Given the description of an element on the screen output the (x, y) to click on. 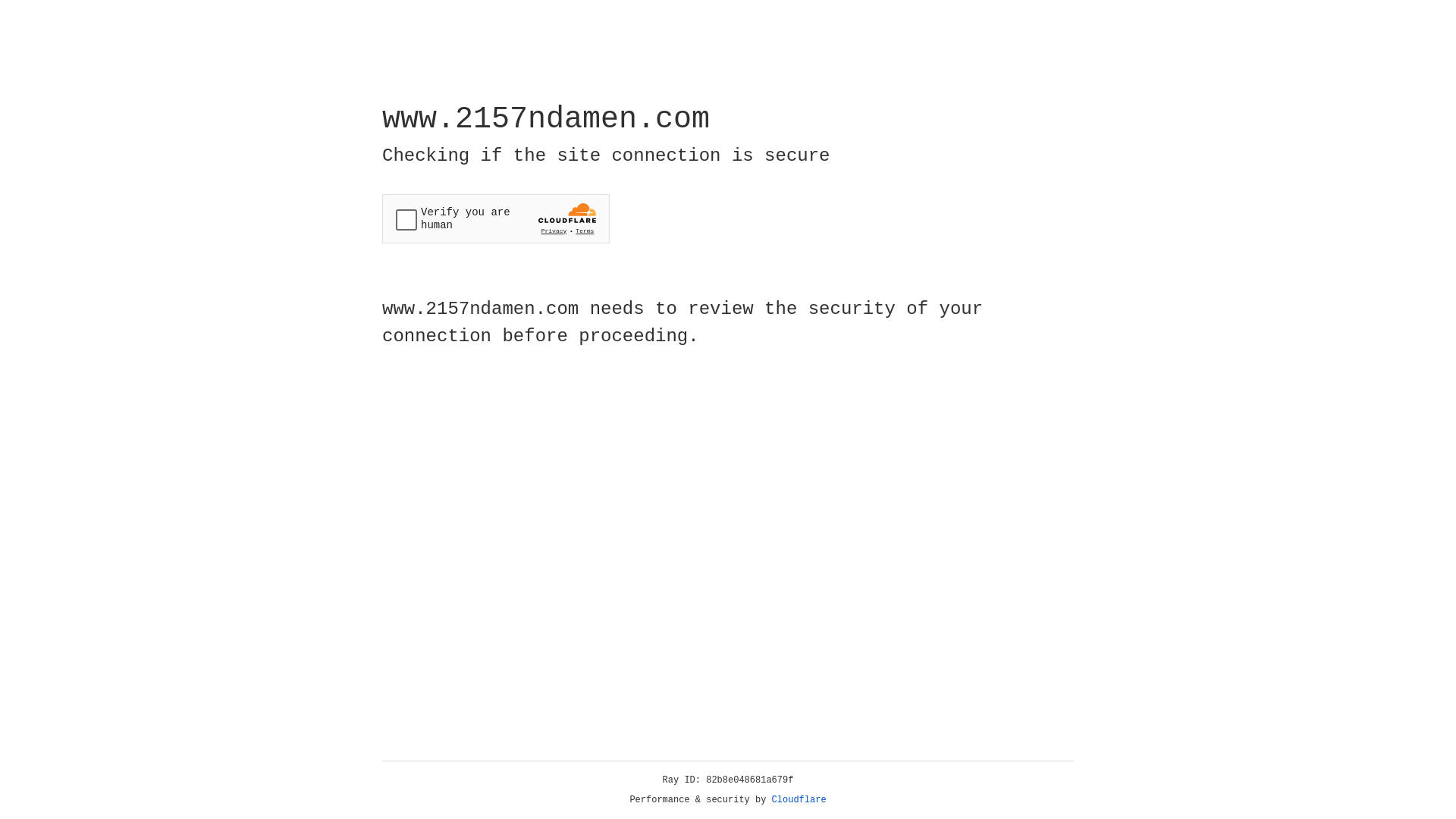
Cloudflare Element type: text (798, 799)
Widget containing a Cloudflare security challenge Element type: hover (495, 218)
